Given the description of an element on the screen output the (x, y) to click on. 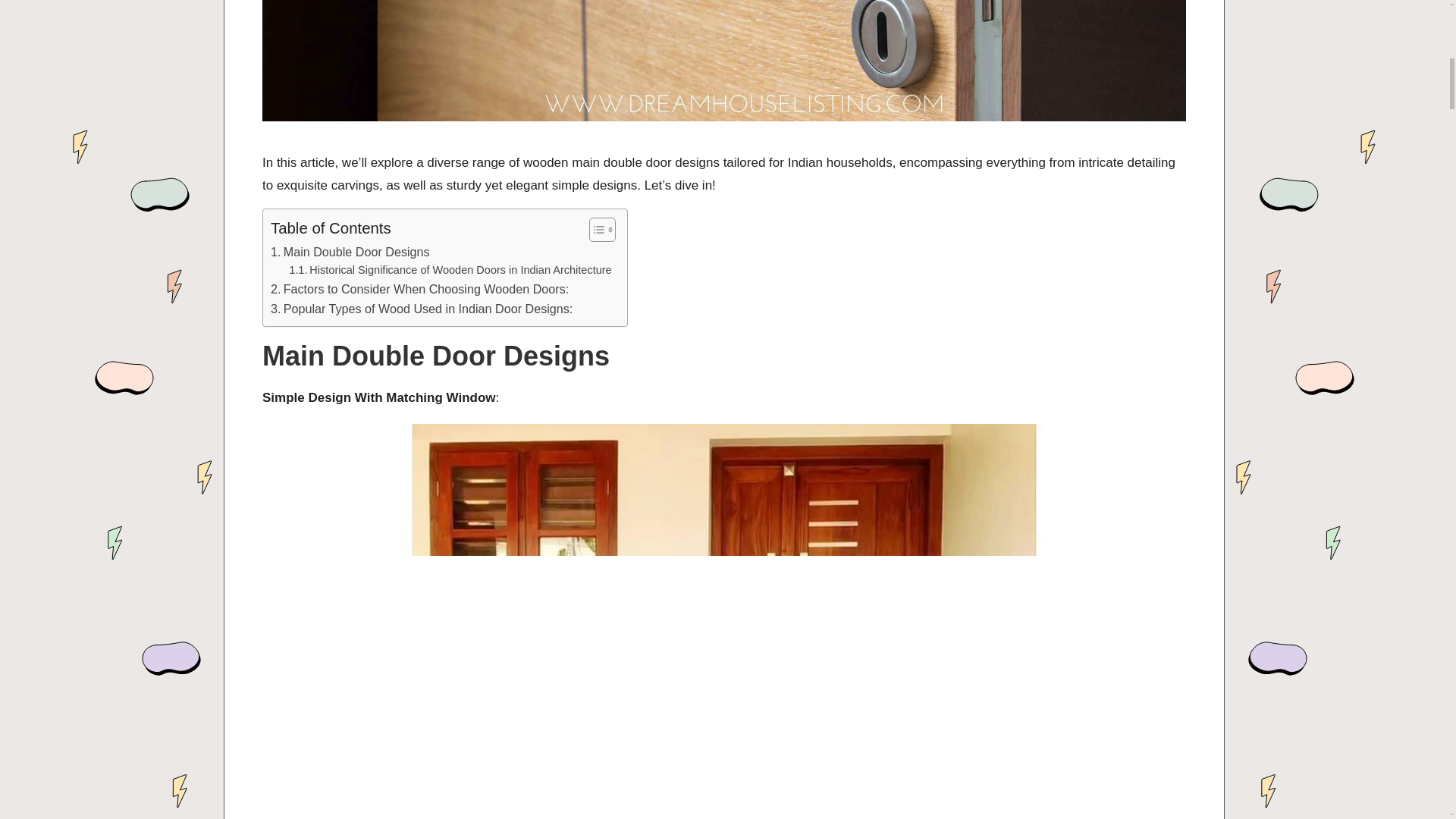
Factors to Consider When Choosing Wooden Doors: (419, 289)
Popular Types of Wood Used in Indian Door Designs: (421, 309)
Main Double Door Designs (349, 252)
Popular Types of Wood Used in Indian Door Designs: (421, 309)
Factors to Consider When Choosing Wooden Doors: (419, 289)
Main Double Door Designs (349, 252)
